Given the description of an element on the screen output the (x, y) to click on. 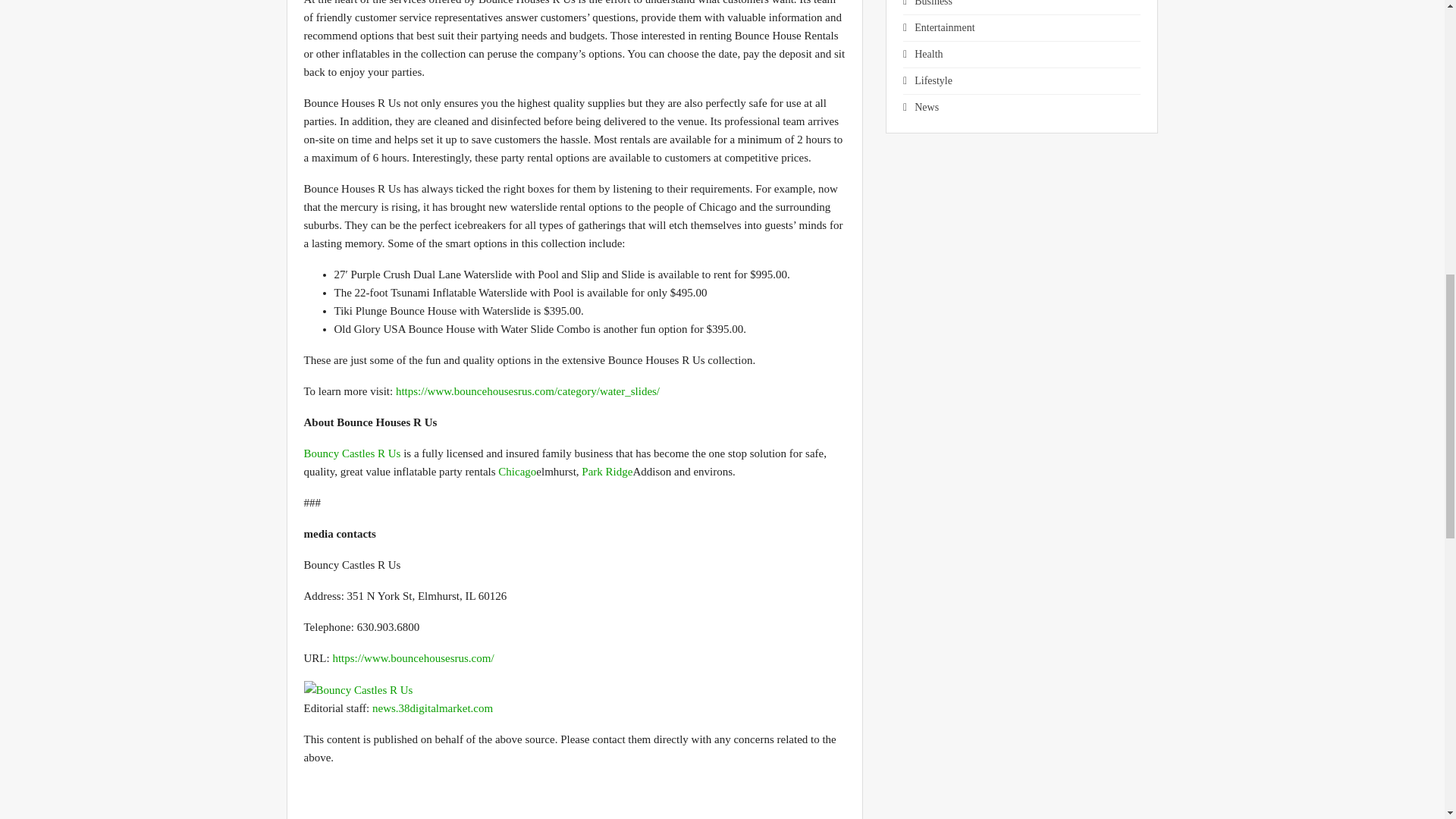
Chicago (516, 471)
news.38digitalmarket.com (432, 707)
Park Ridge (605, 471)
Bouncy Castles R Us (351, 453)
